Given the description of an element on the screen output the (x, y) to click on. 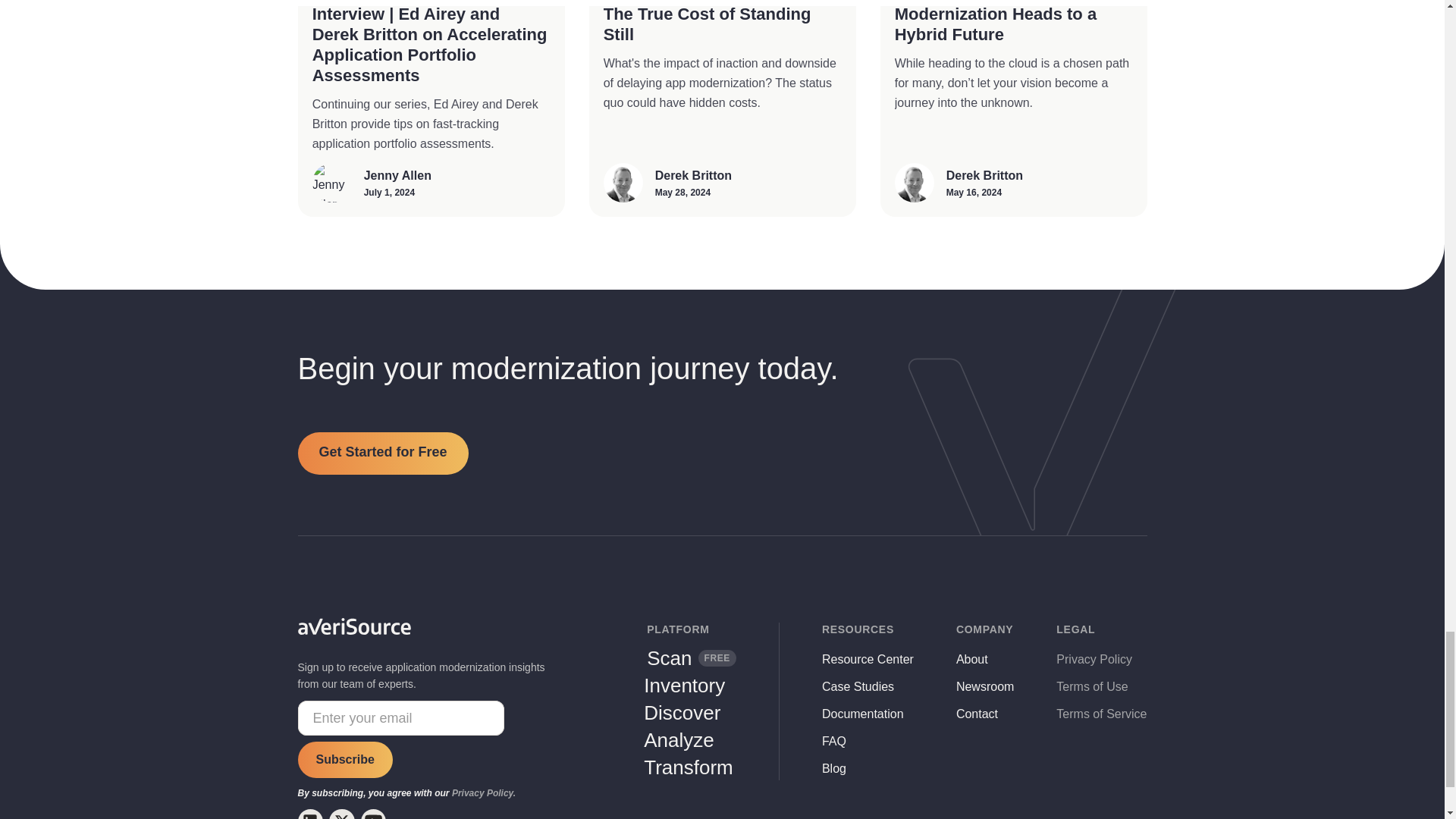
Subscribe (344, 760)
